Given the description of an element on the screen output the (x, y) to click on. 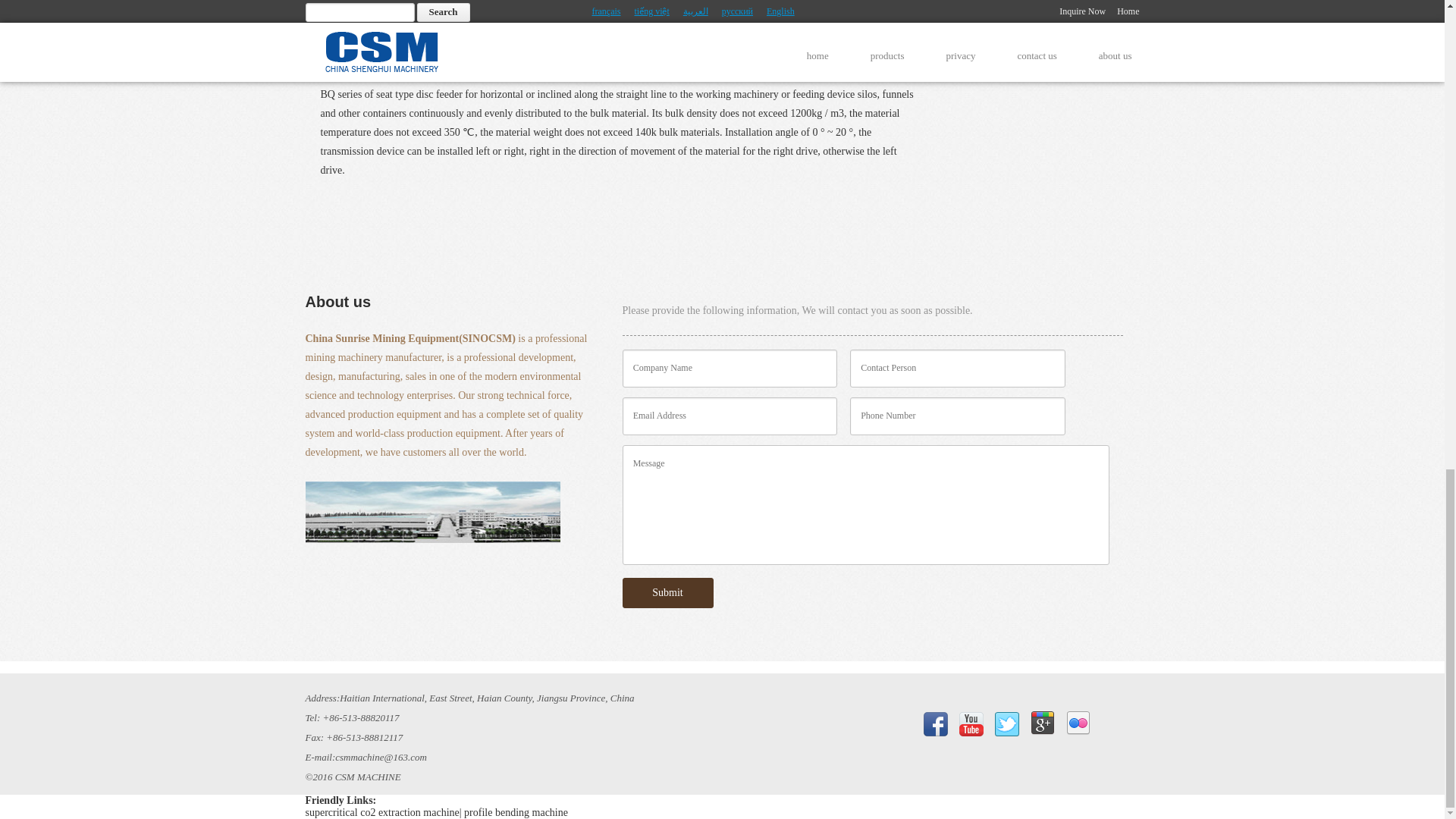
LoadingBellow (1042, 20)
supercritical co2 extraction machine (381, 812)
filterbags (1042, 56)
Submit (667, 593)
Submit (667, 593)
profile bending machine (515, 812)
